Given the description of an element on the screen output the (x, y) to click on. 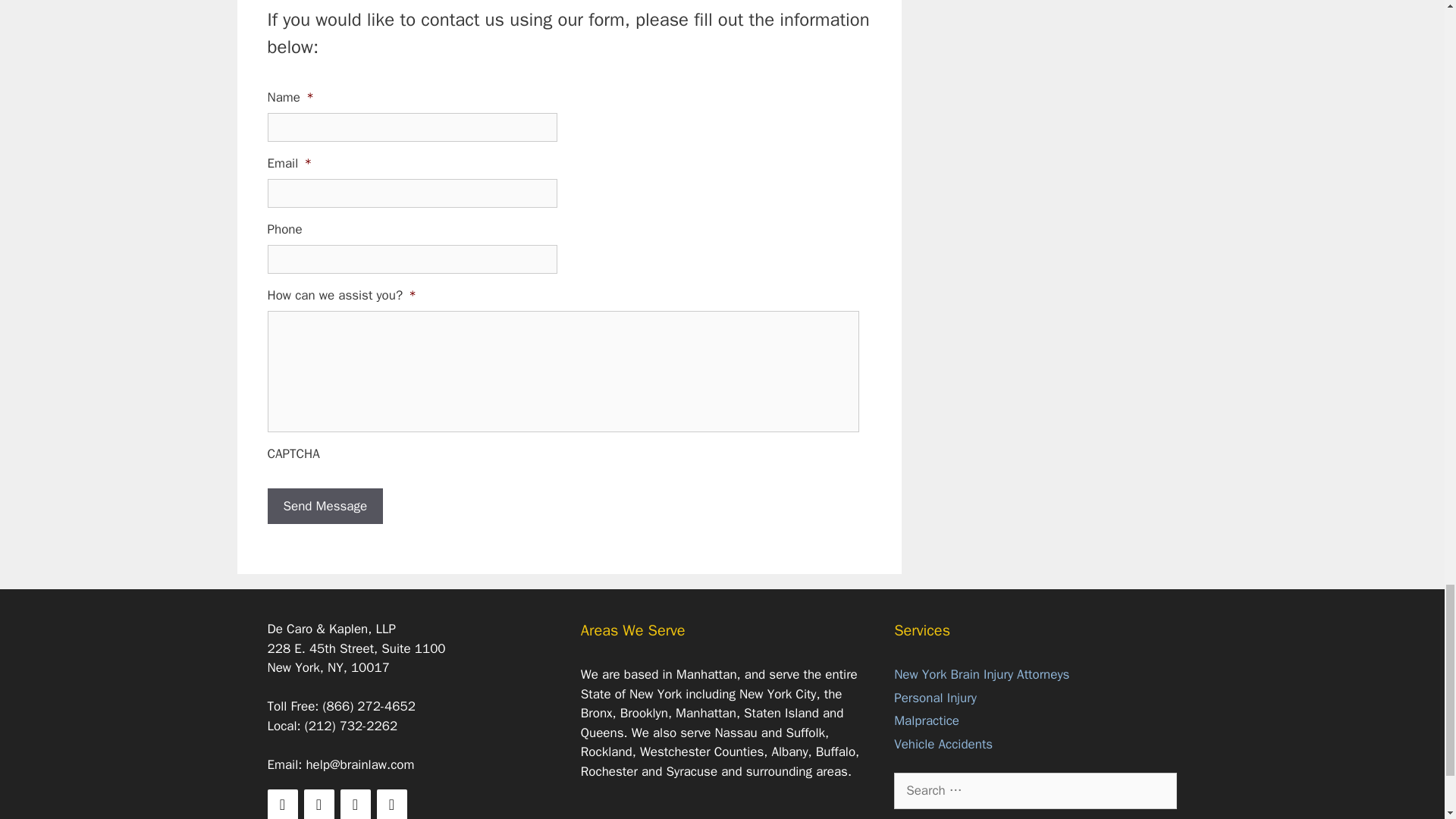
Send Message (324, 506)
YouTube (390, 804)
Twitter (317, 804)
Facebook (281, 804)
Search for: (1034, 791)
LinkedIn (354, 804)
